Given the description of an element on the screen output the (x, y) to click on. 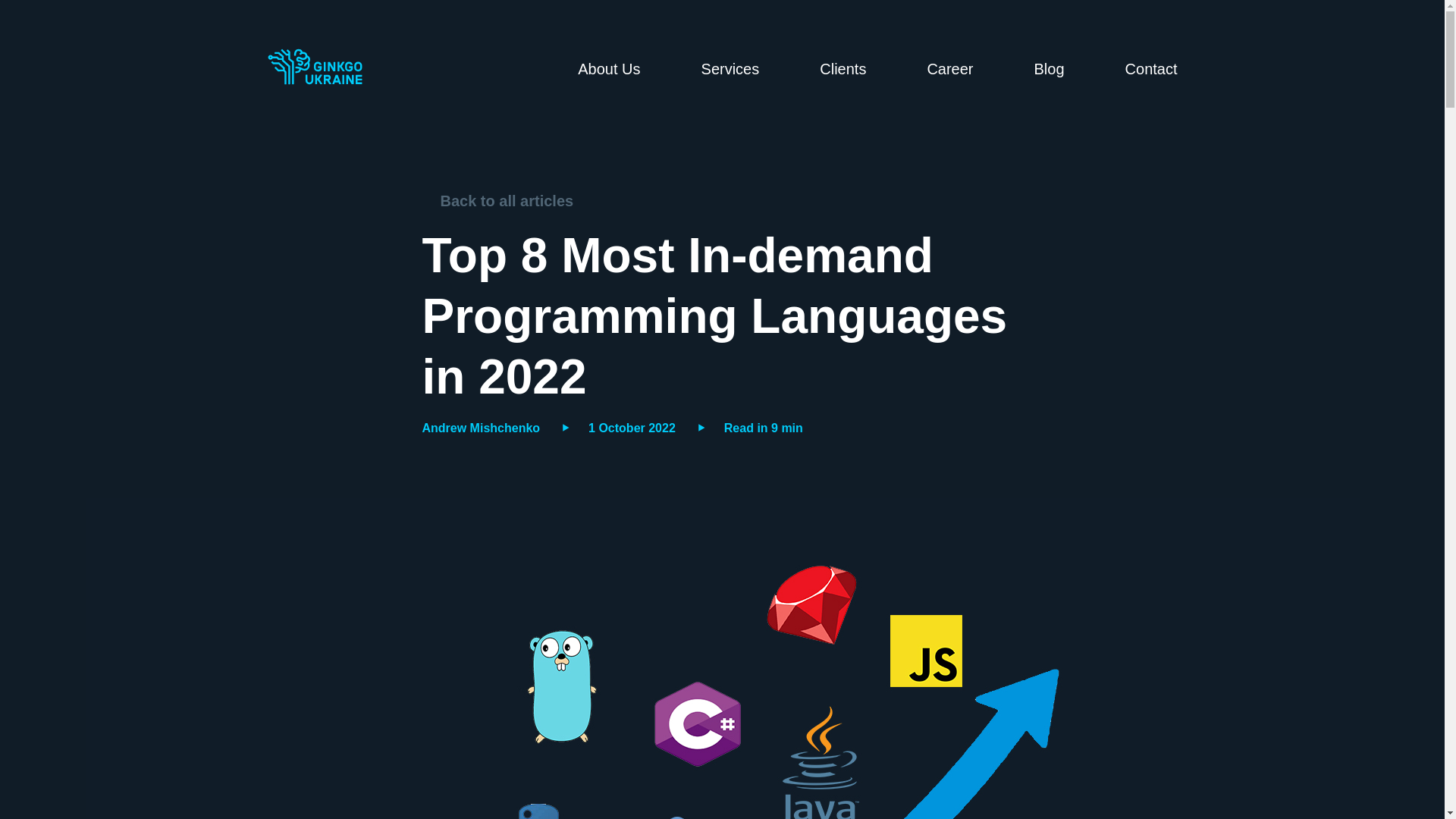
Services (730, 68)
Blog (1048, 68)
Career (949, 68)
Contact (1151, 68)
About Us (609, 68)
Back to all articles (497, 200)
Clients (842, 68)
